Given the description of an element on the screen output the (x, y) to click on. 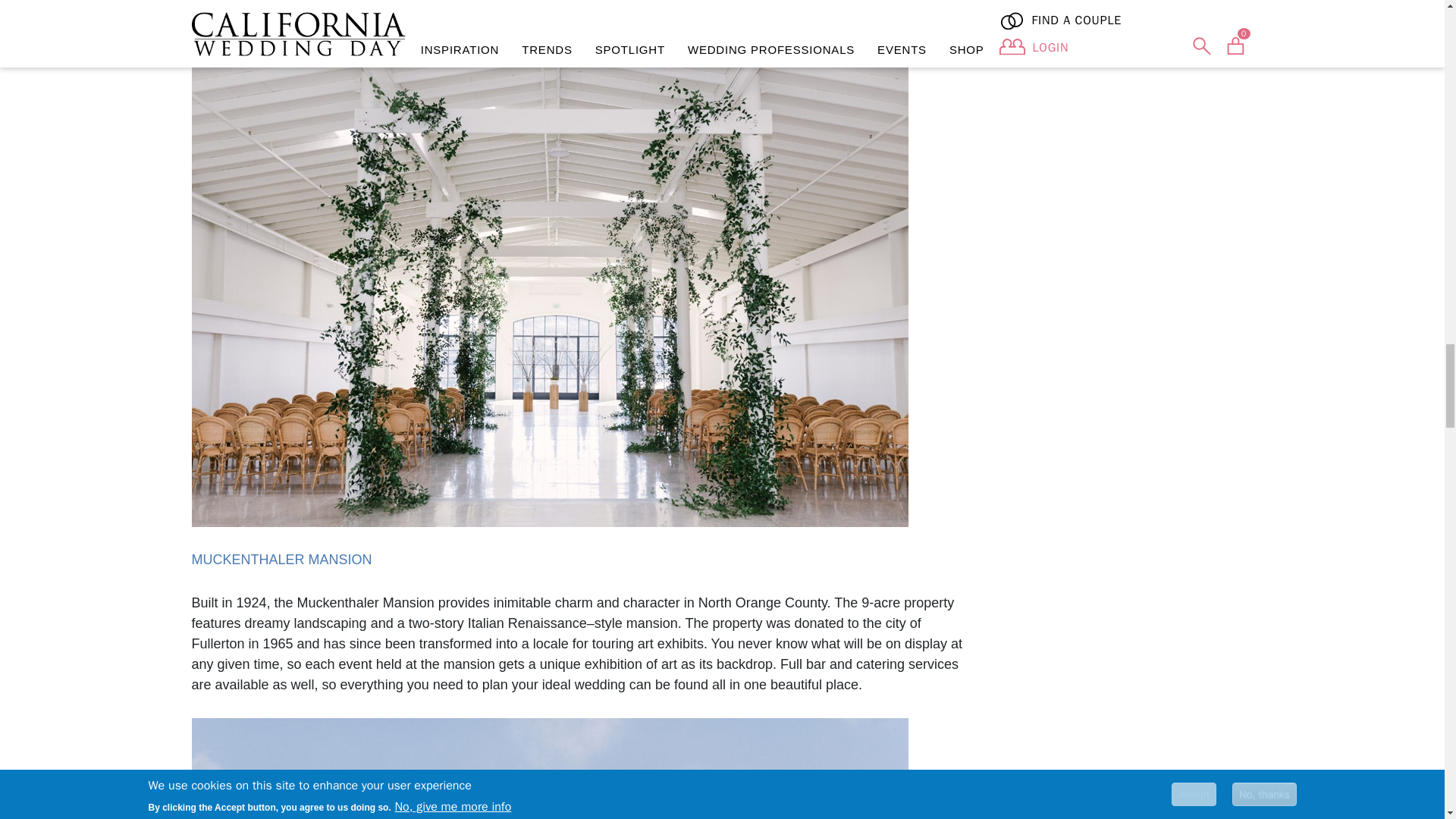
MUCKENTHALER MANSION (280, 559)
Photo by XO and Fetti Photography (548, 768)
